Given the description of an element on the screen output the (x, y) to click on. 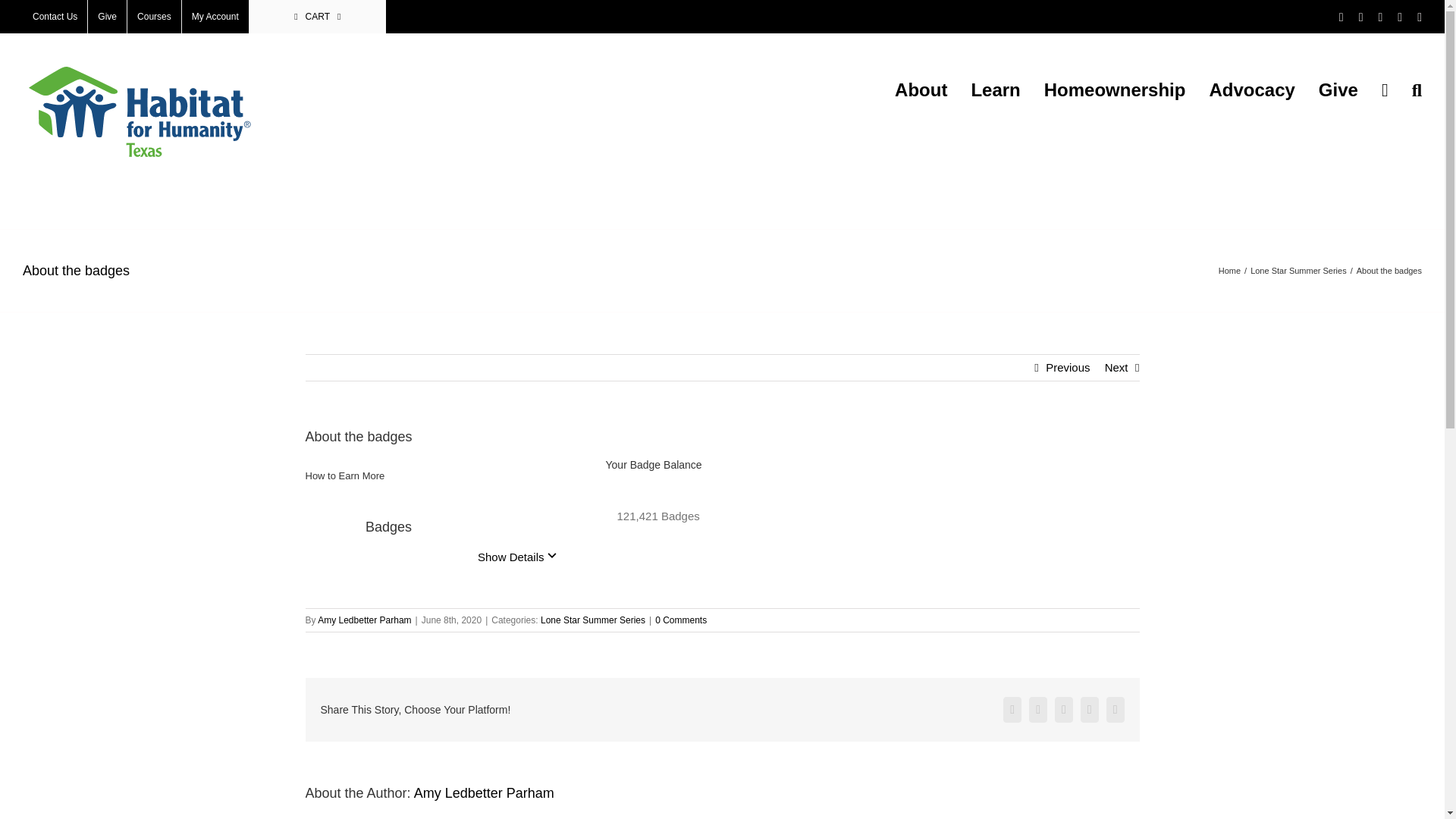
Posts by Amy Ledbetter Parham (363, 620)
My Account (215, 16)
Courses (154, 16)
Give (106, 16)
Log In (270, 158)
Homeownership (1114, 90)
Contact Us (55, 16)
CART (316, 16)
